Given the description of an element on the screen output the (x, y) to click on. 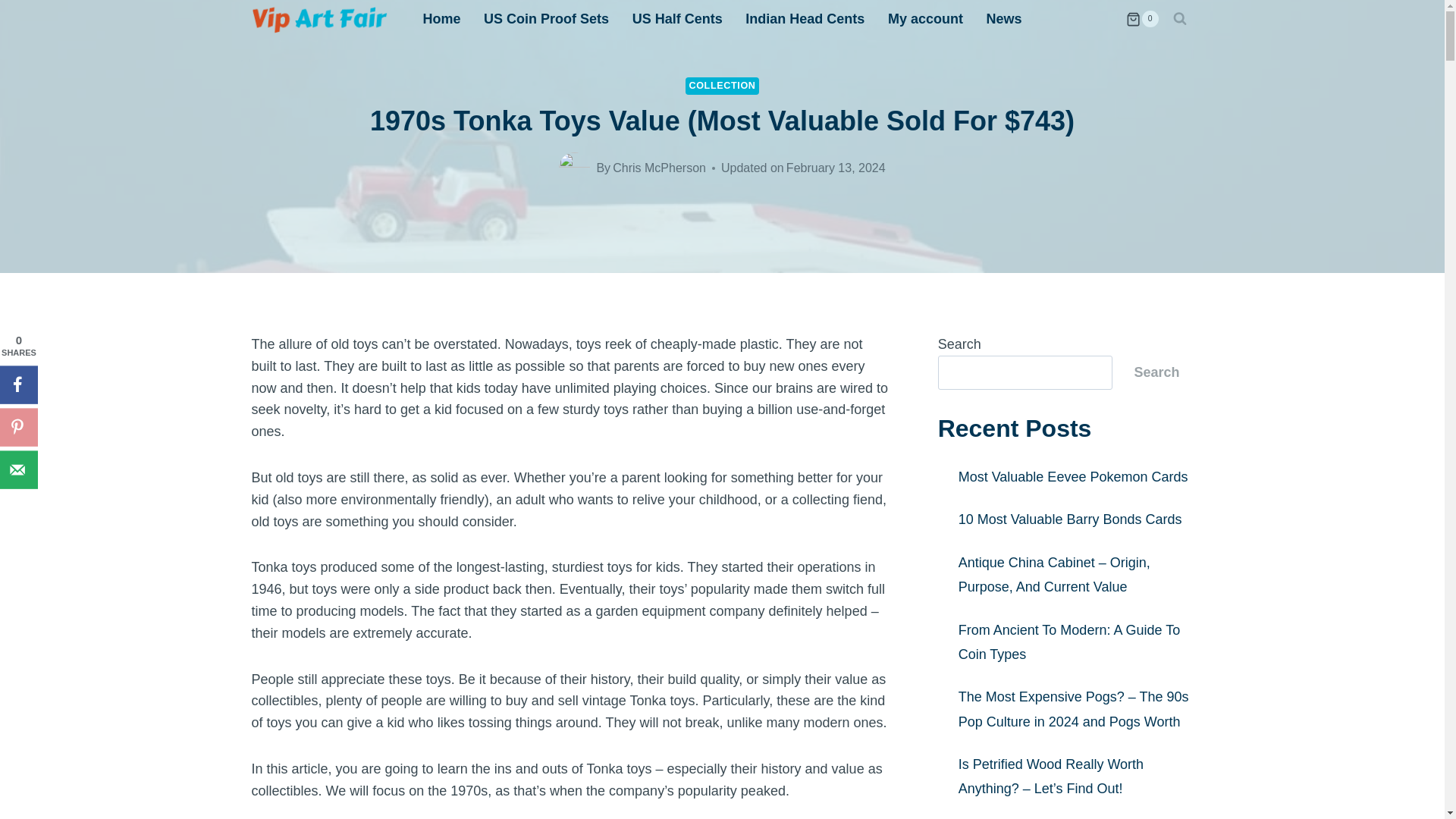
0 (1141, 18)
Chris McPherson (659, 167)
News (1003, 18)
US Coin Proof Sets (546, 18)
US Half Cents (676, 18)
My account (925, 18)
Send over email (18, 469)
Save to Pinterest (18, 426)
Home (440, 18)
Share on Facebook (18, 384)
COLLECTION (721, 85)
Indian Head Cents (804, 18)
